Given the description of an element on the screen output the (x, y) to click on. 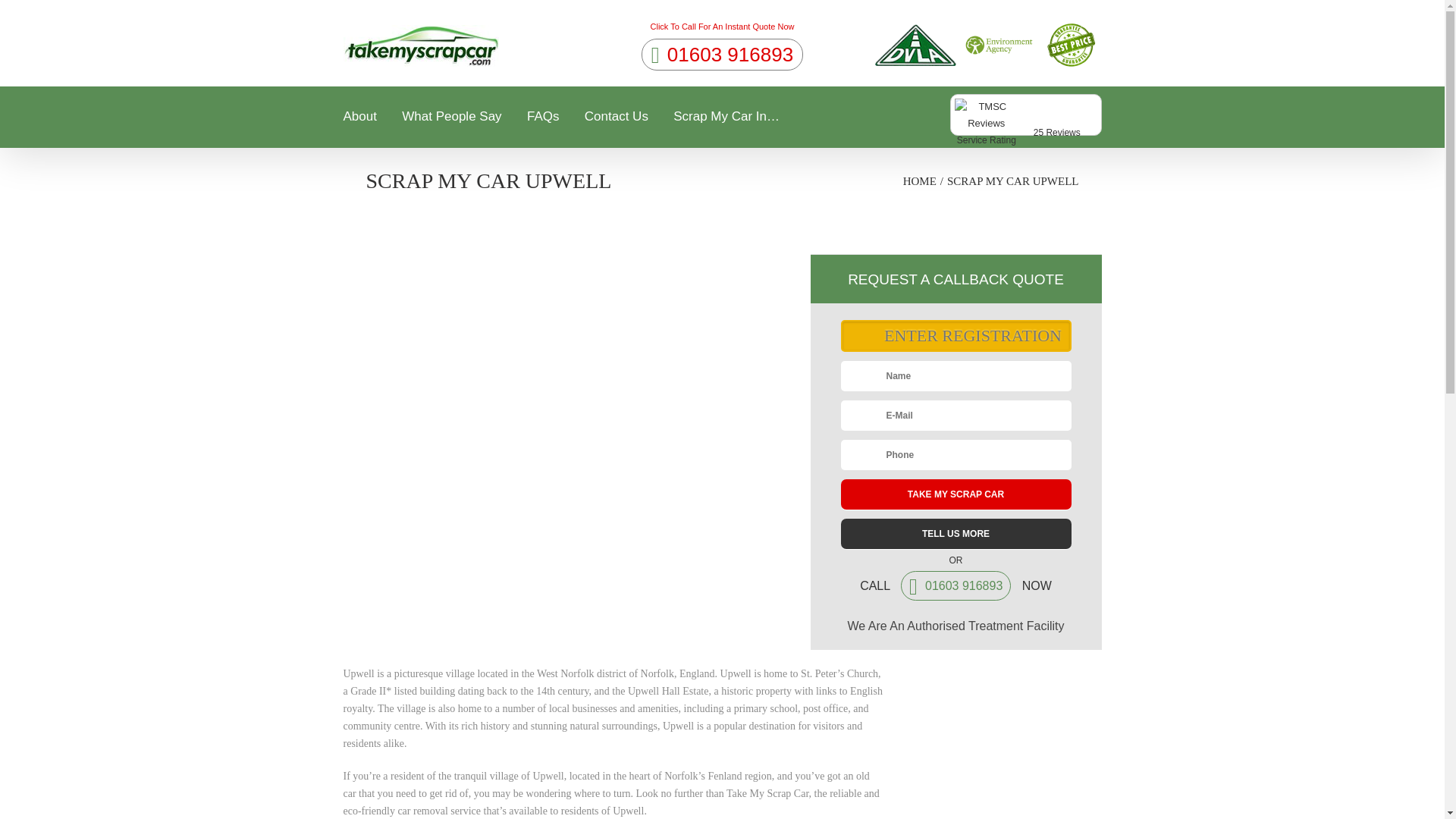
TELL US MORE (955, 533)
HOME (919, 180)
01603 916893 (722, 54)
What People Say (450, 119)
TAKE MY SCRAP CAR (1024, 123)
FAQs (955, 494)
Contact Us (543, 119)
About (616, 119)
